Given the description of an element on the screen output the (x, y) to click on. 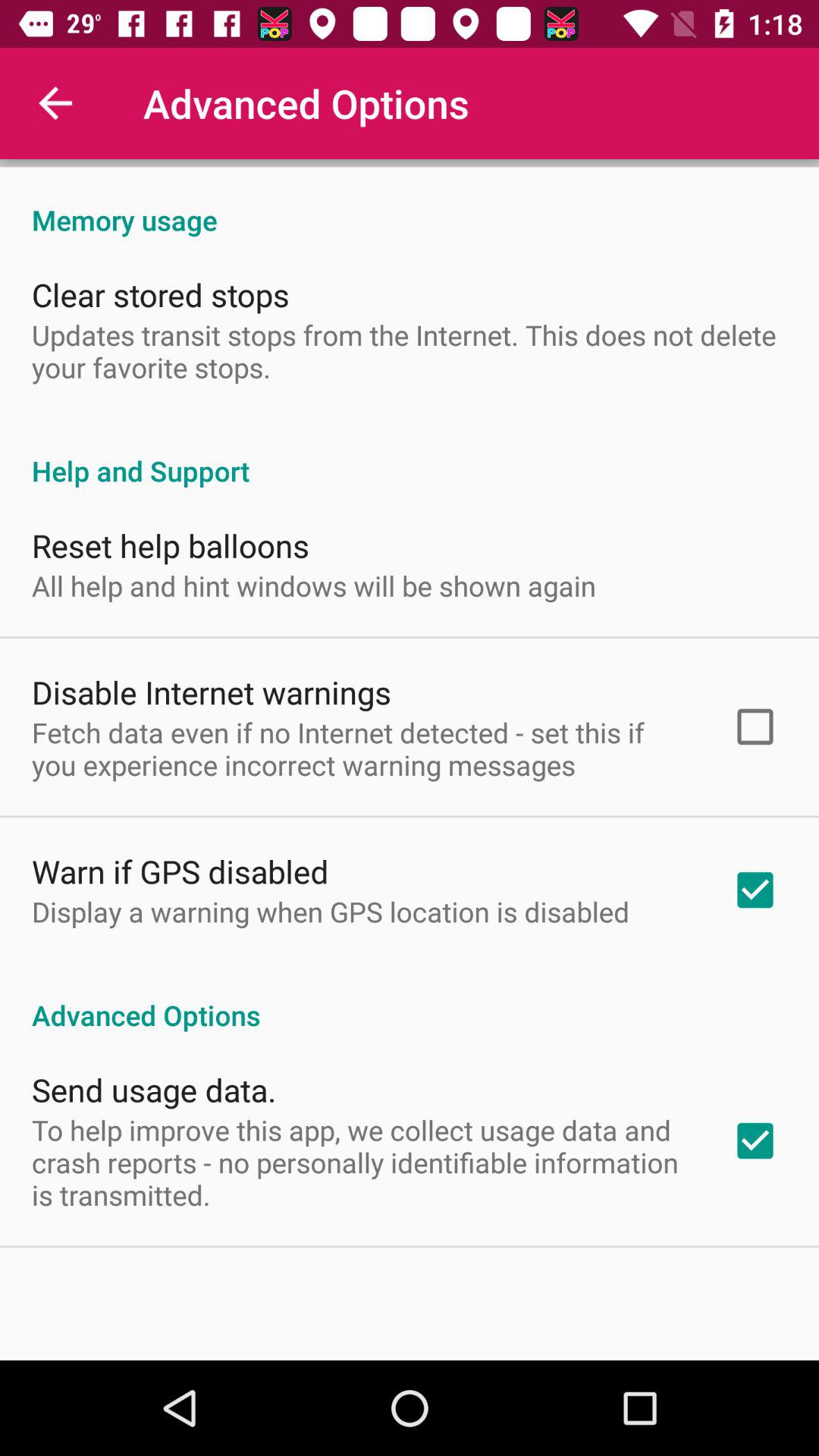
scroll to warn if gps item (179, 870)
